Given the description of an element on the screen output the (x, y) to click on. 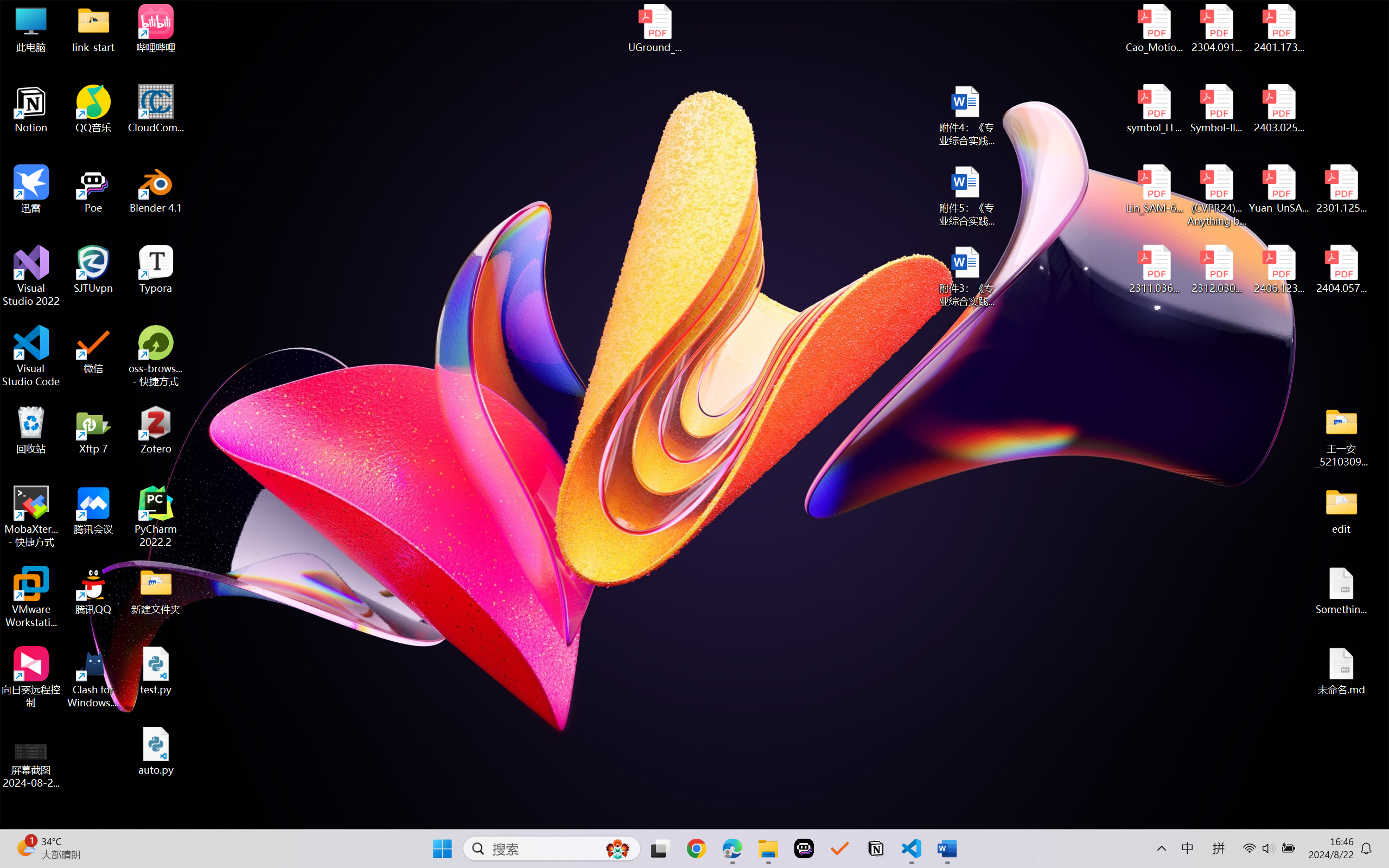
symbol_LLM.pdf (1154, 109)
Blender 4.1 (156, 189)
2312.03032v2.pdf (1216, 269)
test.py (156, 670)
